Given the description of an element on the screen output the (x, y) to click on. 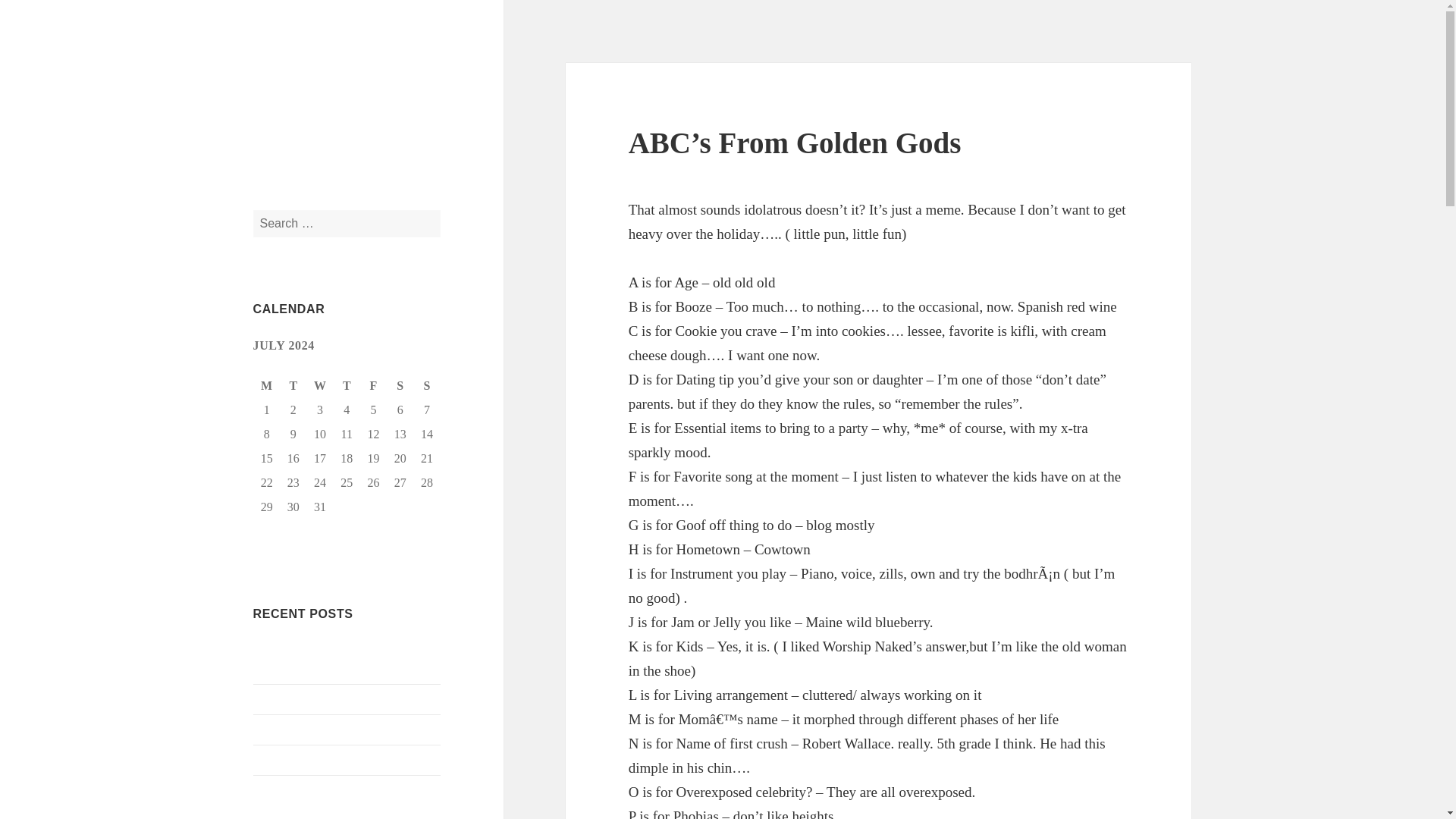
Monday (267, 385)
Saturday (400, 385)
Friday (373, 385)
What is Spiritual Soaking? (318, 758)
Have You Stopped Asking Yourself Questions? (339, 798)
Protected: Experimental Posting For Family (341, 658)
Wednesday (320, 385)
TrueGrit (293, 74)
Sunday (427, 385)
Blog Sleep, Let Sleeping Dogs Lie (337, 698)
Tuesday (294, 385)
Thursday (346, 385)
